Given the description of an element on the screen output the (x, y) to click on. 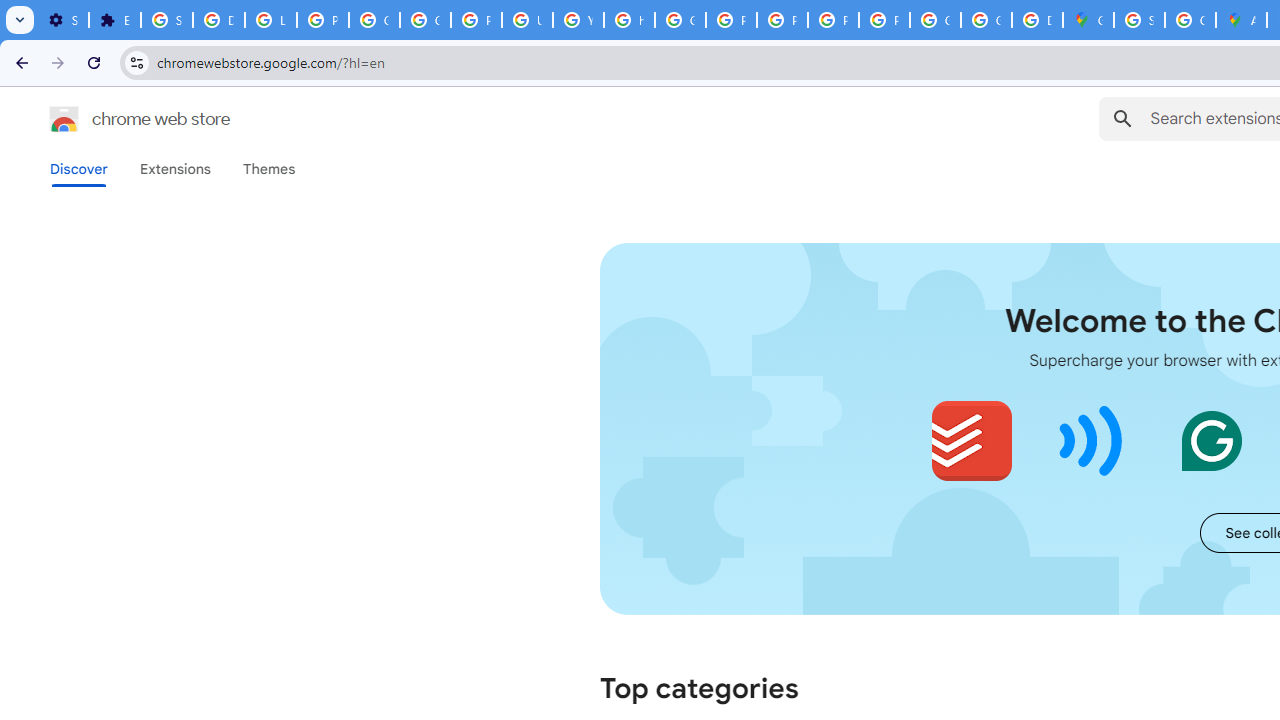
Settings - On startup (63, 20)
Volume Master (1091, 440)
Sign in - Google Accounts (166, 20)
Create your Google Account (1189, 20)
Todoist for Chrome (971, 440)
Discover (79, 169)
Chrome Web Store logo chrome web store (118, 118)
Themes (269, 169)
